Given the description of an element on the screen output the (x, y) to click on. 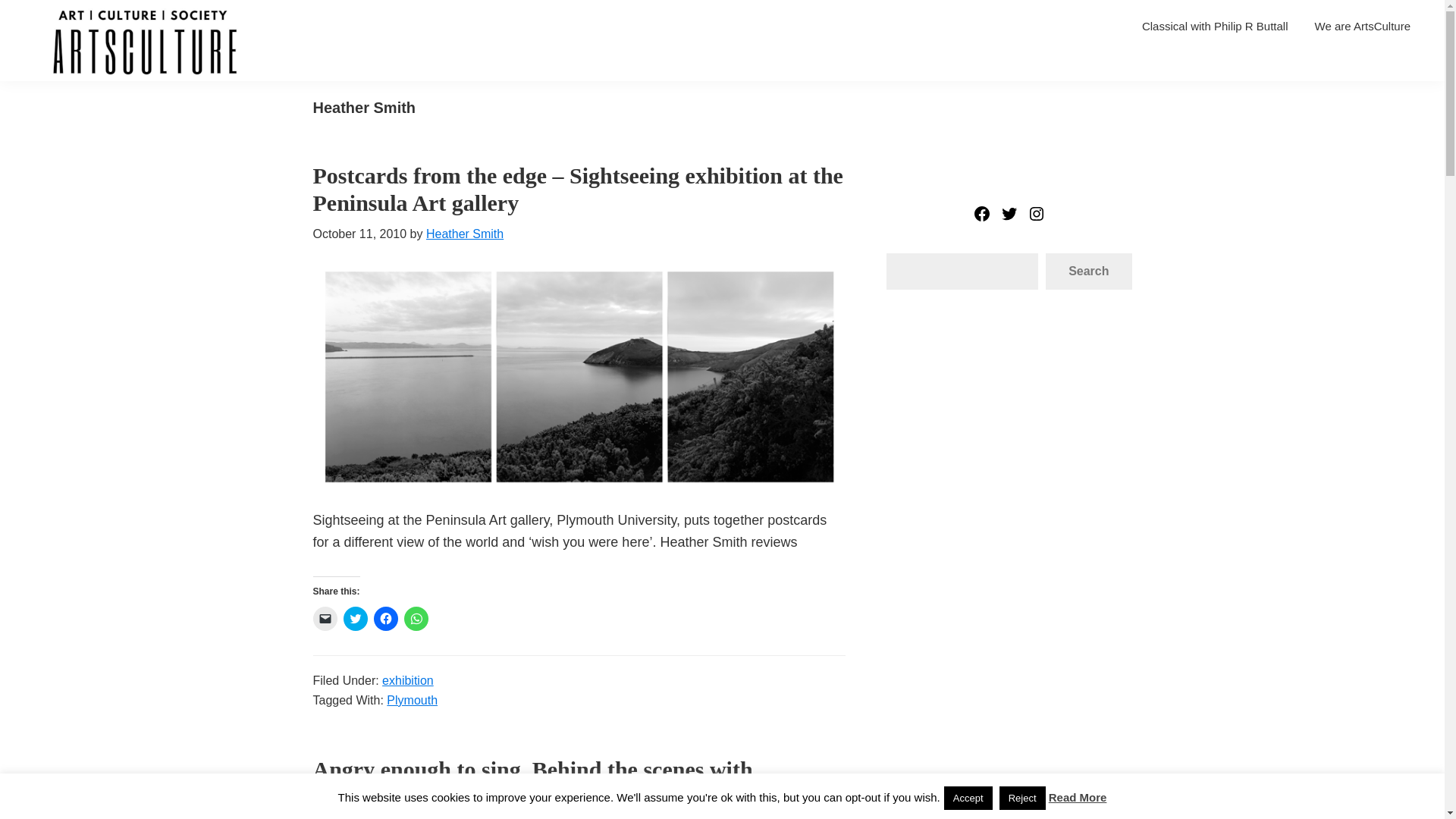
exhibition (407, 679)
We are ArtsCulture (1362, 25)
ArtsCulture (62, 84)
Plymouth (412, 698)
Click to email a link to a friend (324, 618)
Click to share on WhatsApp (415, 618)
Classical with Philip R Buttall (1215, 25)
Heather Smith (464, 233)
